Given the description of an element on the screen output the (x, y) to click on. 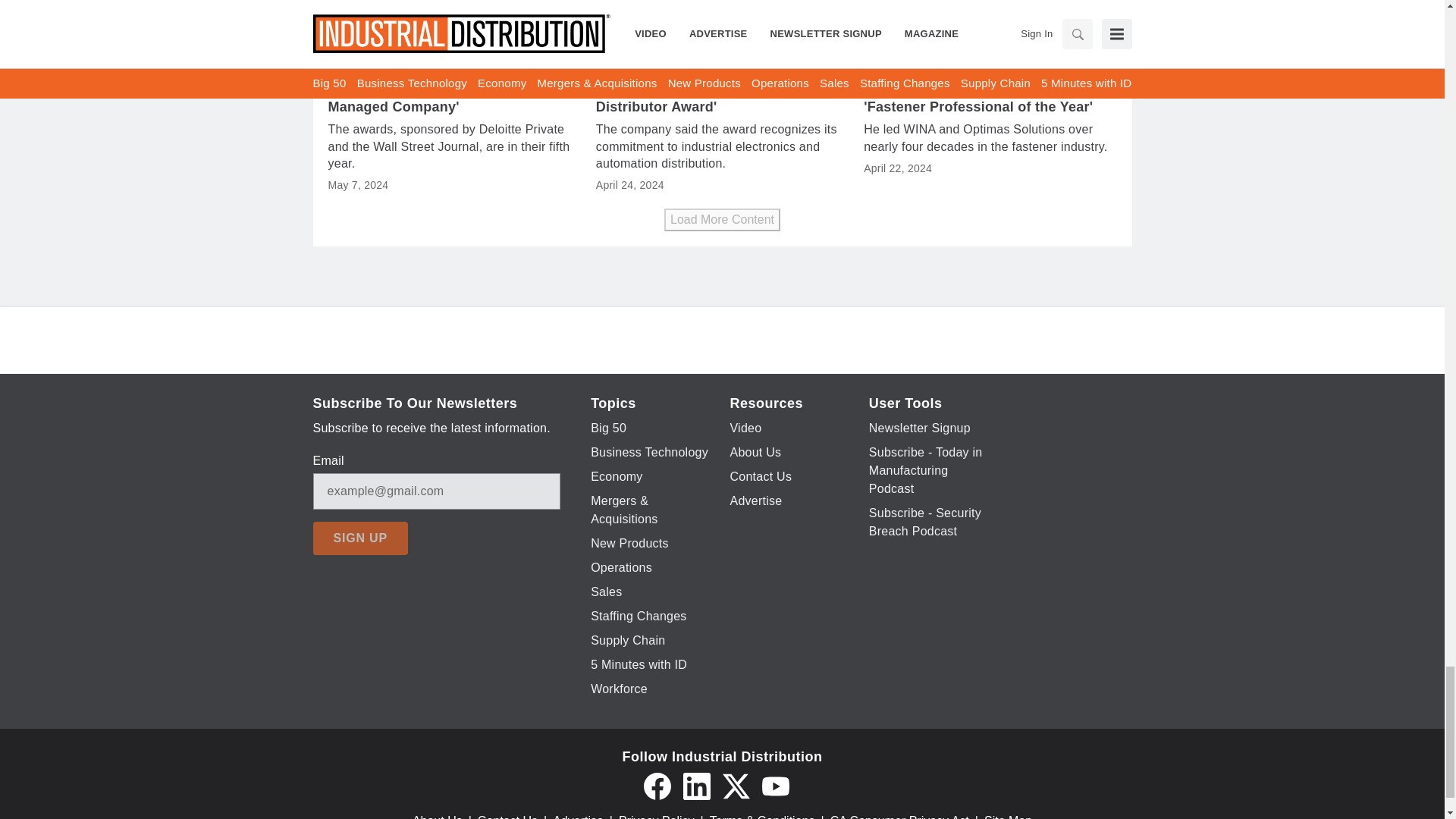
YouTube icon (775, 786)
Twitter X icon (735, 786)
LinkedIn icon (696, 786)
Facebook icon (656, 786)
